Given the description of an element on the screen output the (x, y) to click on. 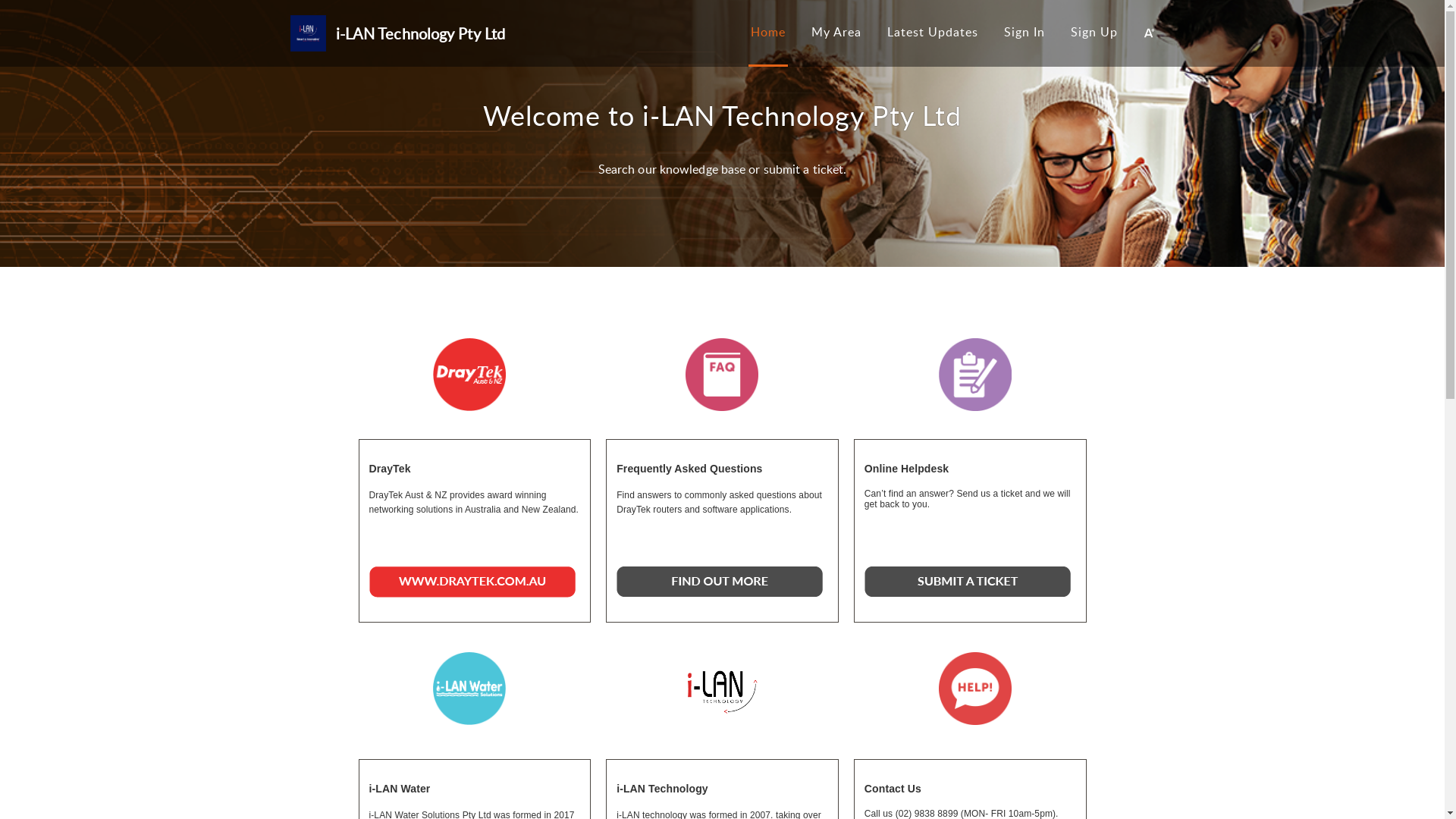
Home Element type: text (767, 31)
iLanWater Element type: hover (469, 688)
Latest Updates Element type: text (932, 31)
Submit a Ticket Element type: hover (967, 581)
My Area Element type: text (836, 31)
Helpdesk Element type: hover (974, 374)
Find out more on FAQ, Application Note Element type: hover (719, 581)
Sign Up Element type: text (1093, 31)
Sign In Element type: text (1024, 31)
DrayTek Element type: hover (469, 374)
Visit DrayTek Australia, networking equipment Element type: hover (471, 581)
FAQ Element type: hover (721, 374)
DrayTek Element type: hover (974, 688)
